Given the description of an element on the screen output the (x, y) to click on. 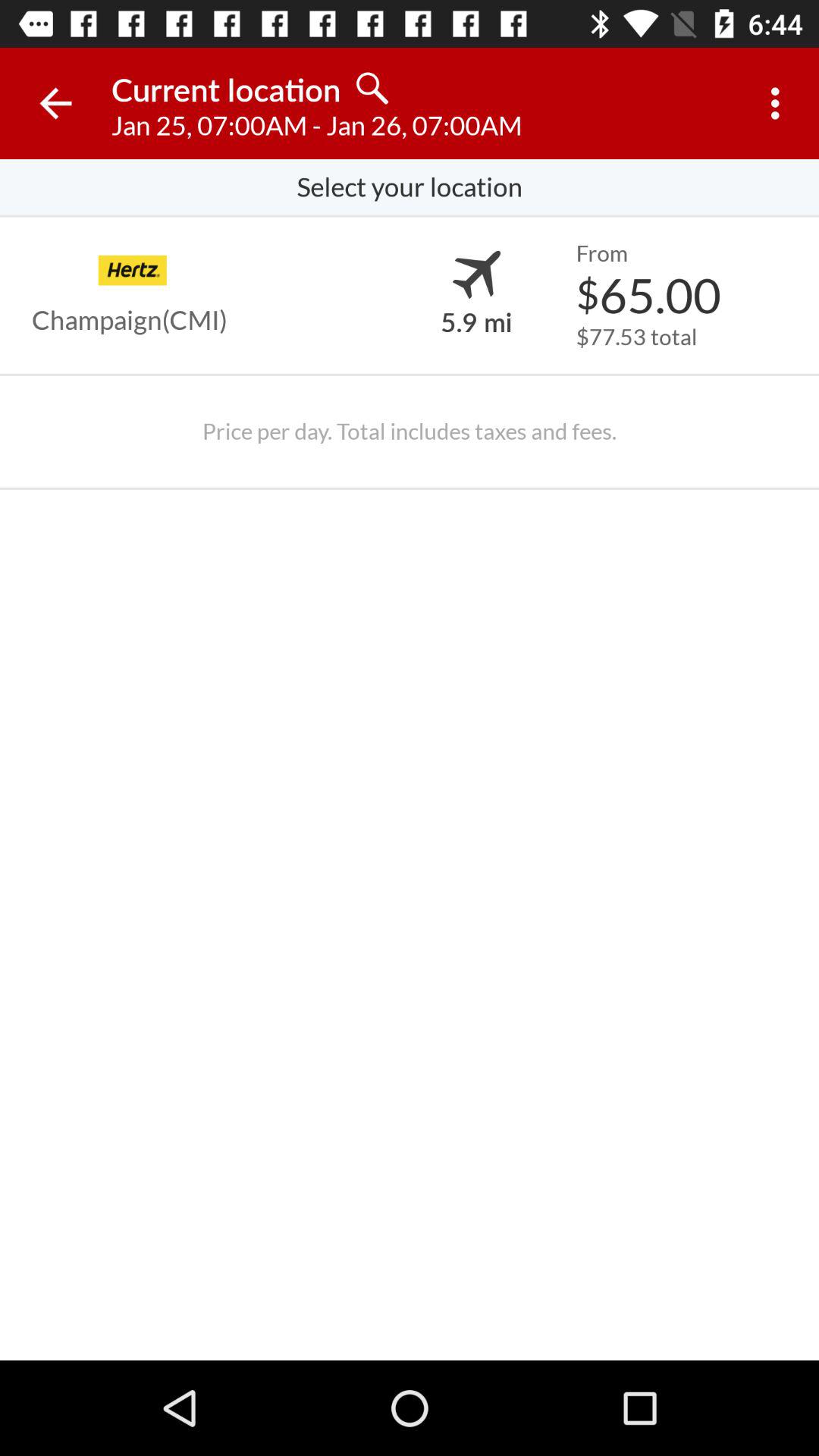
choose icon next to the current location icon (55, 103)
